Given the description of an element on the screen output the (x, y) to click on. 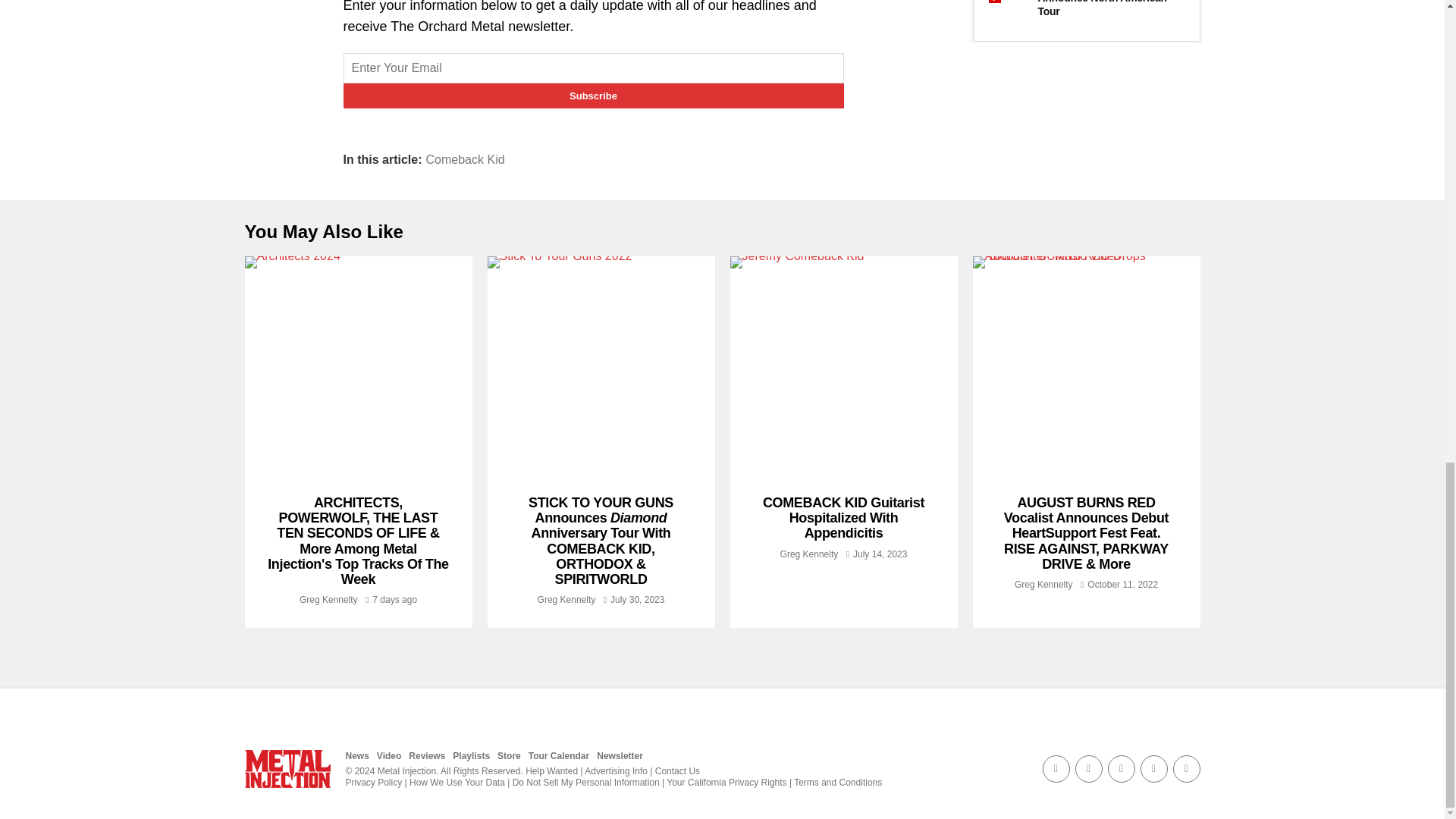
Posts by Greg Kennelty (328, 599)
Posts by Greg Kennelty (809, 553)
Posts by Greg Kennelty (1043, 584)
Posts by Greg Kennelty (566, 599)
